Given the description of an element on the screen output the (x, y) to click on. 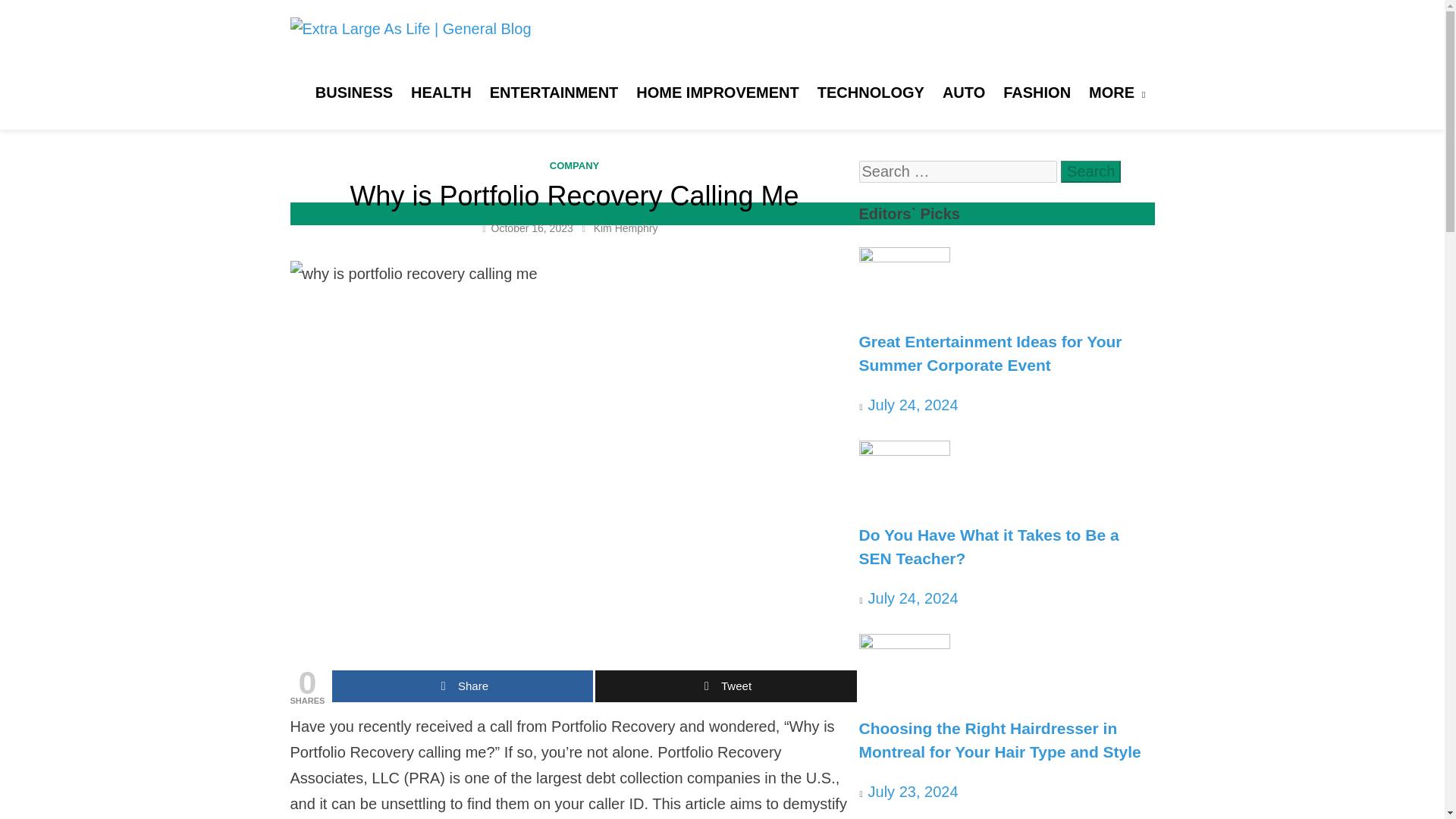
Do You Have What it Takes to Be a SEN Teacher? (904, 450)
Great Entertainment Ideas for Your Summer Corporate Event (904, 256)
Share (461, 685)
TECHNOLOGY (870, 92)
AUTO (963, 92)
BUSINESS (353, 92)
Search (1091, 171)
Tweet (725, 685)
Search (1091, 171)
MORE (1117, 92)
Kim Hemphry (626, 227)
October 16, 2023 (532, 227)
FASHION (1037, 92)
HEALTH (440, 92)
